Given the description of an element on the screen output the (x, y) to click on. 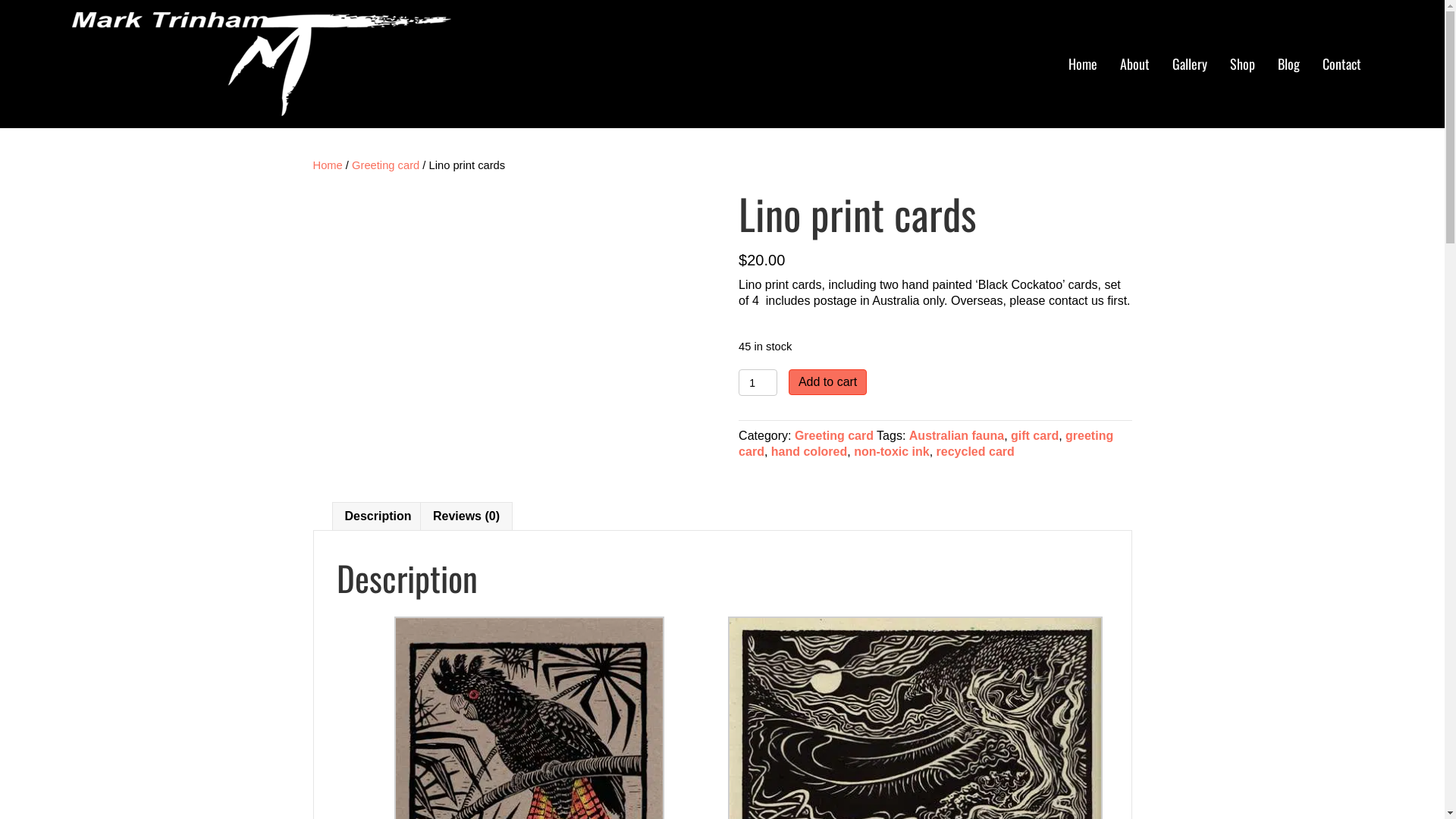
Description Element type: text (377, 516)
gift card Element type: text (1034, 435)
About Element type: text (1134, 63)
Contact Element type: text (1341, 63)
Blog Element type: text (1288, 63)
greeting card Element type: text (925, 443)
Gallery Element type: text (1189, 63)
Reviews (0) Element type: text (466, 516)
non-toxic ink Element type: text (891, 451)
Add to cart Element type: text (827, 381)
Home Element type: text (327, 165)
recycled card Element type: text (975, 451)
Home Element type: text (1082, 63)
hand colored Element type: text (809, 451)
Australian fauna Element type: text (956, 435)
Greeting card Element type: text (385, 165)
Greeting card Element type: text (833, 435)
Shop Element type: text (1242, 63)
